Given the description of an element on the screen output the (x, y) to click on. 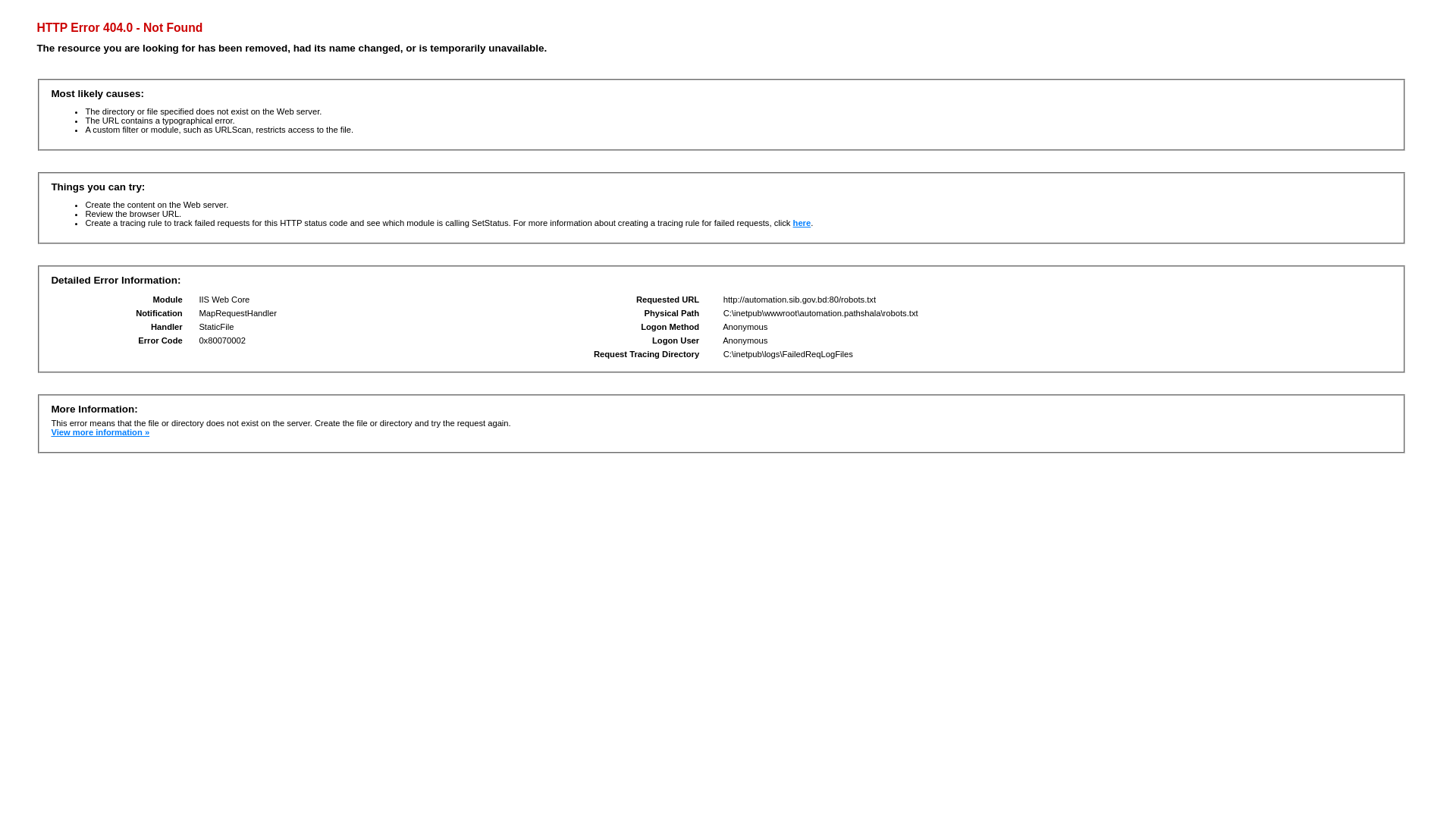
here Element type: text (802, 222)
